Given the description of an element on the screen output the (x, y) to click on. 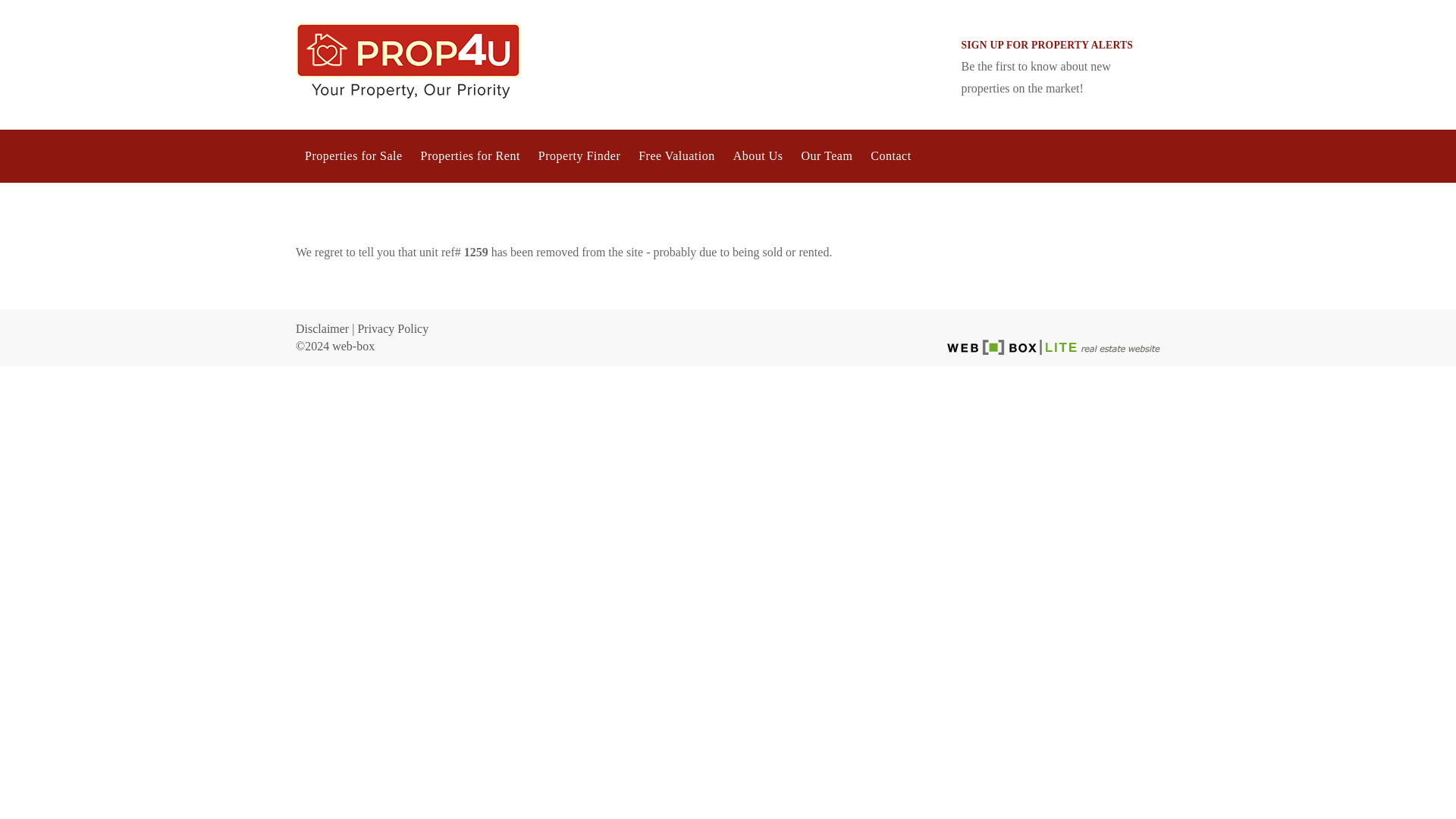
Contact (890, 155)
SIGN UP FOR PROPERTY ALERTS (1047, 43)
About Us (757, 155)
Disclaimer (322, 328)
Our Team (826, 155)
Properties for Sale (353, 155)
Privacy Policy (392, 328)
Free Valuation (675, 155)
Properties for Rent (470, 155)
Property Finder (578, 155)
